Given the description of an element on the screen output the (x, y) to click on. 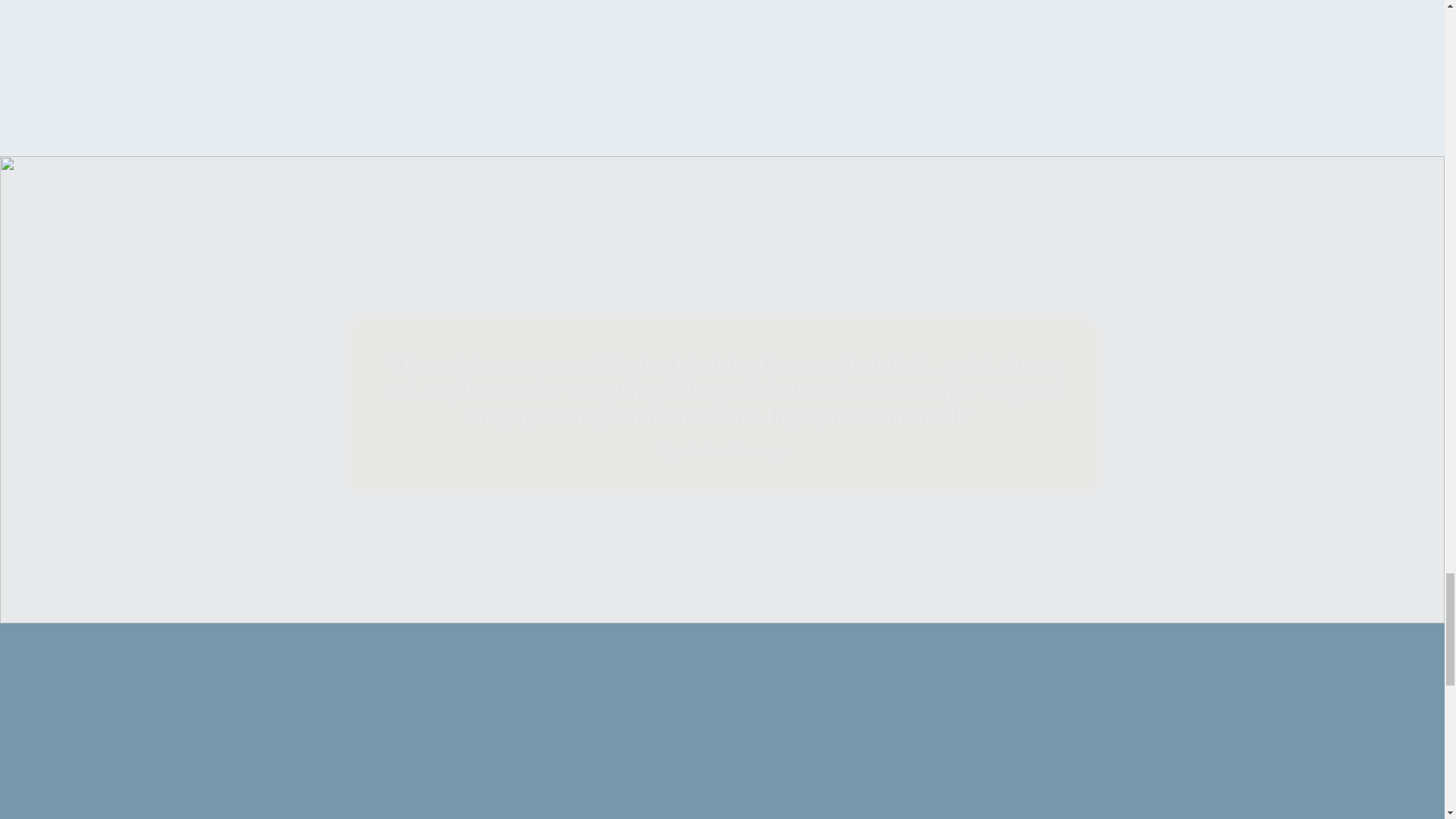
Frequently Asked Questions (721, 706)
